Given the description of an element on the screen output the (x, y) to click on. 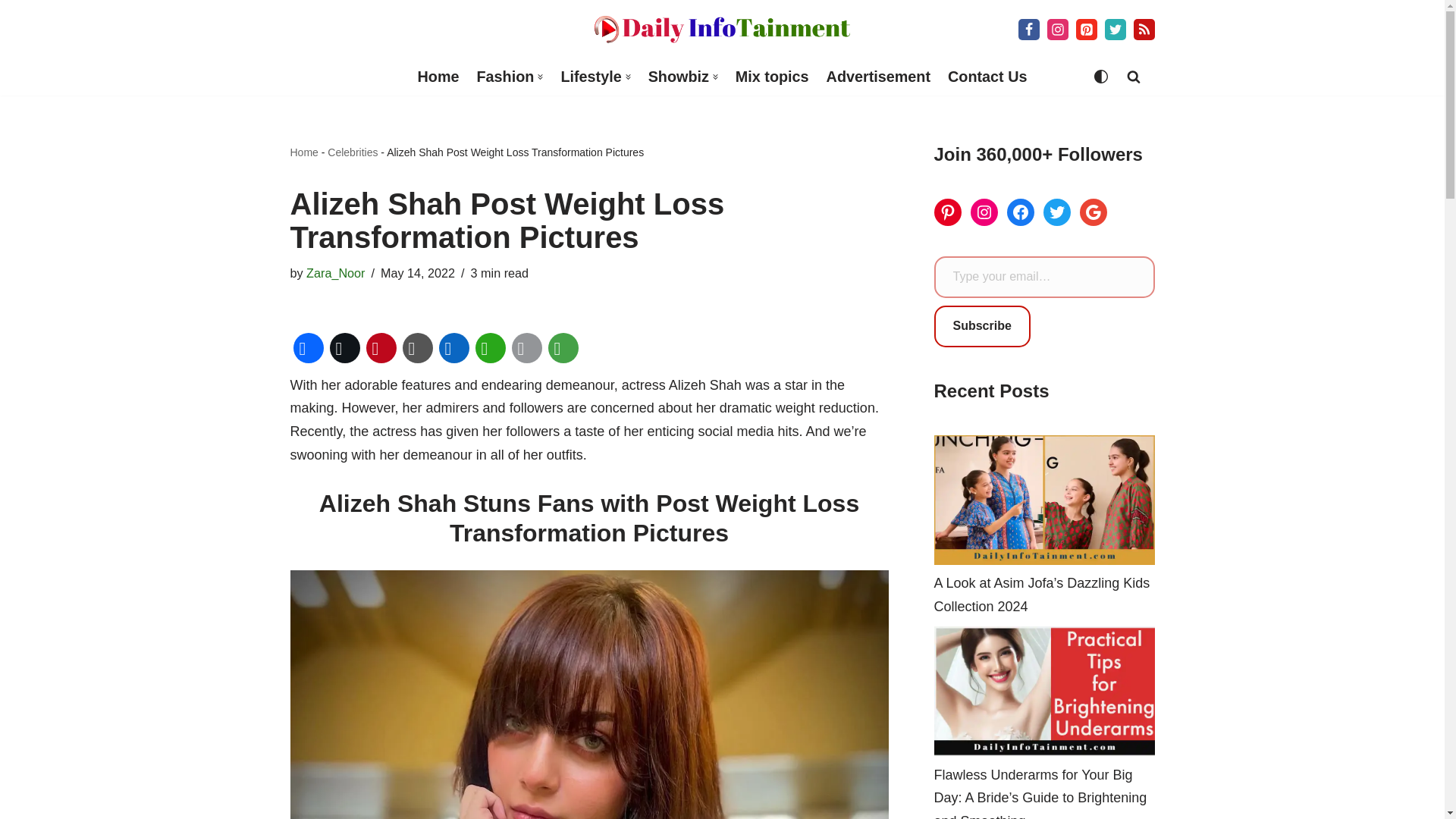
Google News (1143, 29)
Home (438, 76)
Facebook (307, 348)
Pinterest (1085, 29)
Advertisement (878, 76)
Contact Us (986, 76)
Fashion (505, 76)
Skip to content (11, 31)
Twitter (1114, 29)
Facebook (1028, 29)
Lifestyle (590, 76)
Mix topics (772, 76)
Instagram (1056, 29)
Pinterest (380, 348)
Showbiz (678, 76)
